Given the description of an element on the screen output the (x, y) to click on. 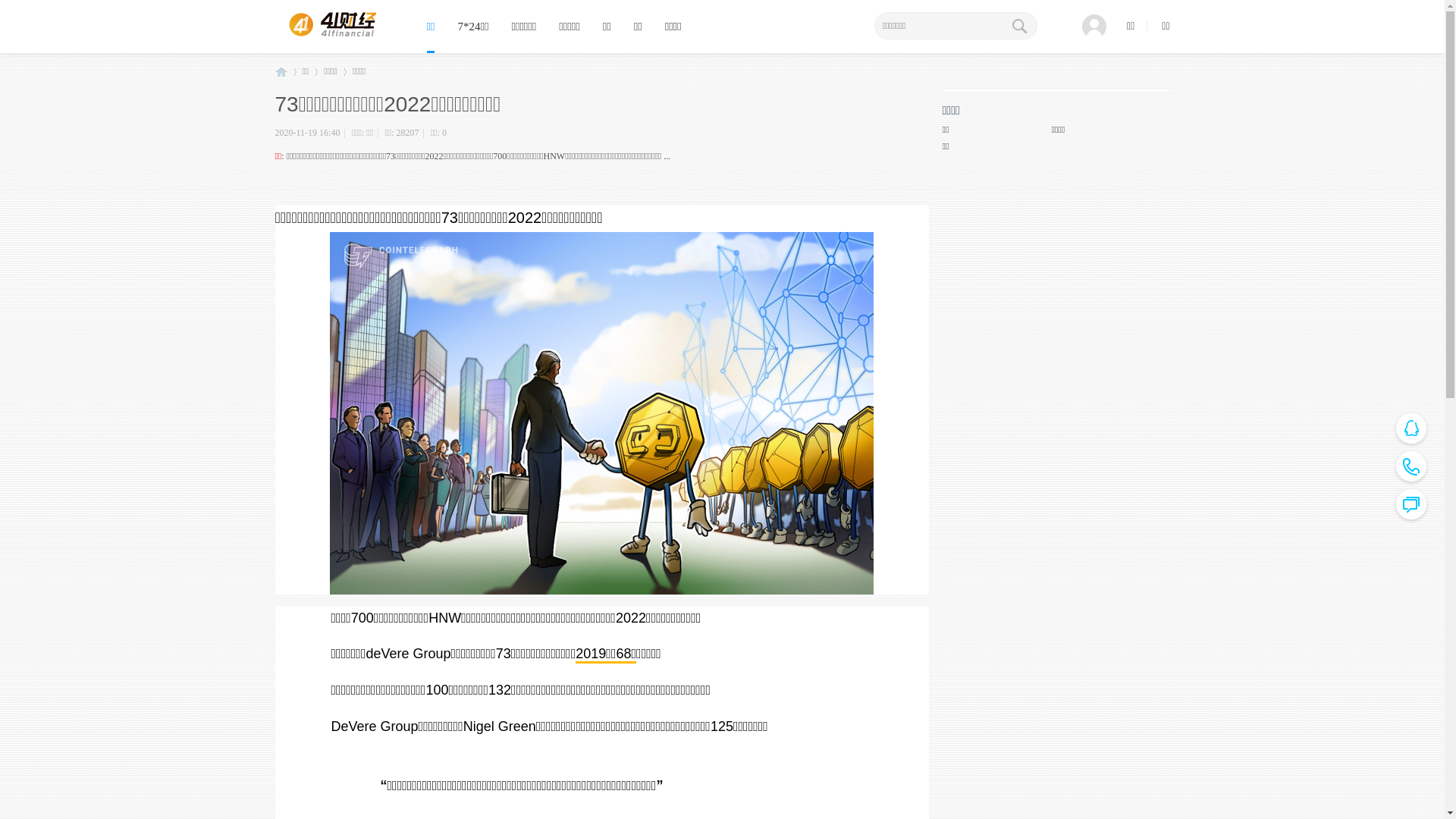
   Element type: text (1018, 25)
